Given the description of an element on the screen output the (x, y) to click on. 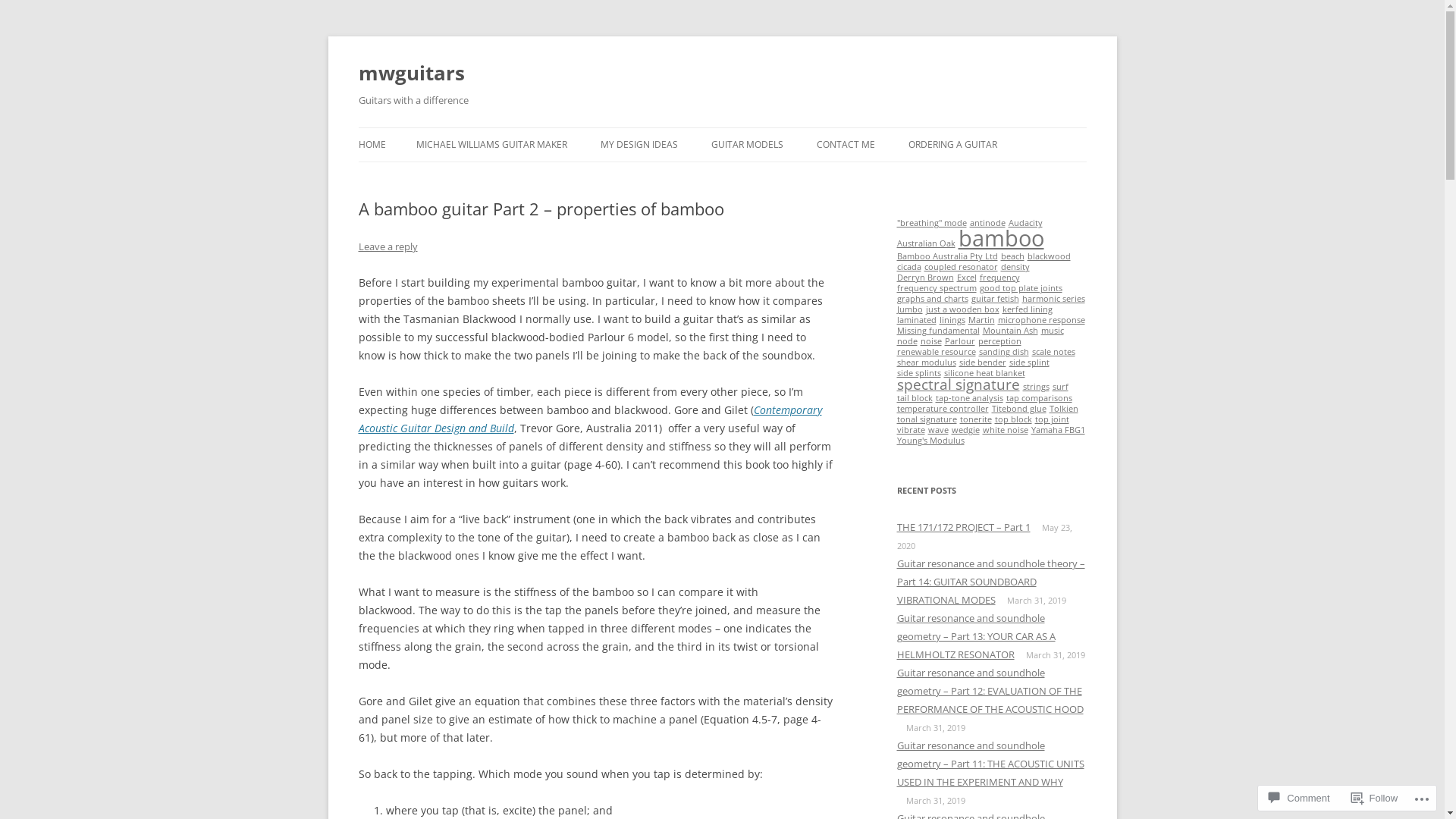
beach Element type: text (1012, 256)
vibrate Element type: text (910, 429)
temperature controller Element type: text (942, 408)
white noise Element type: text (1005, 429)
antinode Element type: text (986, 222)
microphone response Element type: text (1041, 319)
WHAT YOU CAN SPECIFY FOR YOUR GUITAR Element type: text (984, 185)
tap comparisons Element type: text (1038, 397)
blackwood Element type: text (1048, 256)
Tolkien Element type: text (1063, 408)
Comment Element type: text (1298, 797)
Excel Element type: text (966, 277)
COMPARISON BETWEEN JUMBO AND PARLOUR SIZES Element type: text (786, 185)
strings Element type: text (1035, 386)
coupled resonator Element type: text (960, 266)
THE SCIENCE BEHIND GUITARS Element type: text (676, 176)
Bamboo Australia Pty Ltd Element type: text (946, 256)
side splint Element type: text (1028, 362)
tail block Element type: text (913, 397)
surf Element type: text (1060, 386)
Jumbo Element type: text (909, 309)
side splints Element type: text (918, 372)
Martin Element type: text (980, 319)
graphs and charts Element type: text (931, 298)
scale notes Element type: text (1052, 351)
laminated Element type: text (915, 319)
just a wooden box Element type: text (961, 309)
Titebond glue Element type: text (1018, 408)
tonal signature Element type: text (926, 419)
Follow Element type: text (1374, 797)
wedgie Element type: text (964, 429)
Audacity Element type: text (1025, 222)
good top plate joints Element type: text (1020, 287)
mwguitars Element type: text (410, 72)
top joint Element type: text (1051, 419)
MY DESIGN IDEAS Element type: text (638, 144)
side bender Element type: text (981, 362)
cicada Element type: text (908, 266)
Missing fundamental Element type: text (937, 330)
guitar fetish Element type: text (994, 298)
MICHAEL WILLIAMS GUITAR MAKER Element type: text (490, 144)
Parlour Element type: text (959, 340)
kerfed lining Element type: text (1027, 309)
wave Element type: text (938, 429)
bamboo Element type: text (1001, 237)
Leave a reply Element type: text (387, 246)
density Element type: text (1015, 266)
music Element type: text (1051, 330)
Skip to content Element type: text (721, 127)
Australian Oak Element type: text (925, 243)
Yamaha FBG1 Element type: text (1058, 429)
silicone heat blanket Element type: text (983, 372)
GUITAR MODELS Element type: text (747, 144)
Young's Modulus Element type: text (929, 440)
perception Element type: text (999, 340)
renewable resource Element type: text (935, 351)
spectral signature Element type: text (957, 384)
ORDERING A GUITAR Element type: text (952, 144)
tap-tone analysis Element type: text (969, 397)
linings Element type: text (951, 319)
Derryn Brown Element type: text (924, 277)
shear modulus Element type: text (925, 362)
CONTACT ME Element type: text (844, 144)
tonerite Element type: text (975, 419)
top block Element type: text (1013, 419)
node Element type: text (906, 340)
sanding dish Element type: text (1003, 351)
noise Element type: text (930, 340)
Contemporary Acoustic Guitar Design and Build Element type: text (589, 418)
frequency Element type: text (999, 277)
harmonic series Element type: text (1053, 298)
HOME Element type: text (371, 144)
frequency spectrum Element type: text (935, 287)
Mountain Ash Element type: text (1010, 330)
"breathing" mode Element type: text (931, 222)
